Given the description of an element on the screen output the (x, y) to click on. 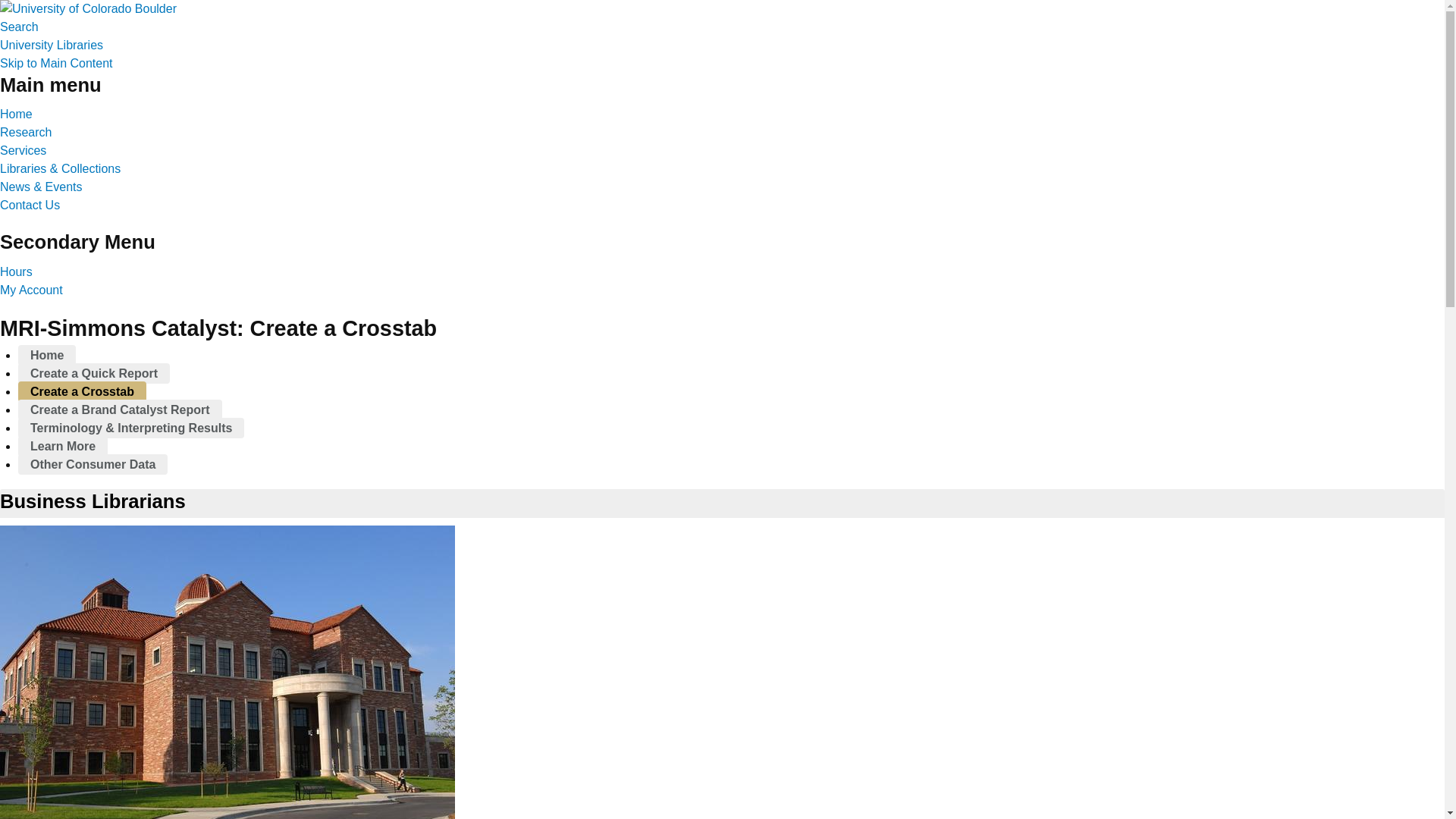
My Account (31, 289)
University Libraries (51, 44)
Hours (16, 271)
Create a Brand Catalyst Report (119, 409)
Services (23, 150)
Home (16, 113)
Contact Us (29, 205)
Skip to Main Content (56, 62)
Home (46, 354)
Create a Quick Report (93, 373)
Other Consumer Data (92, 464)
Search (19, 26)
Learn More (62, 445)
Research (25, 132)
Create a Crosstab (82, 391)
